Given the description of an element on the screen output the (x, y) to click on. 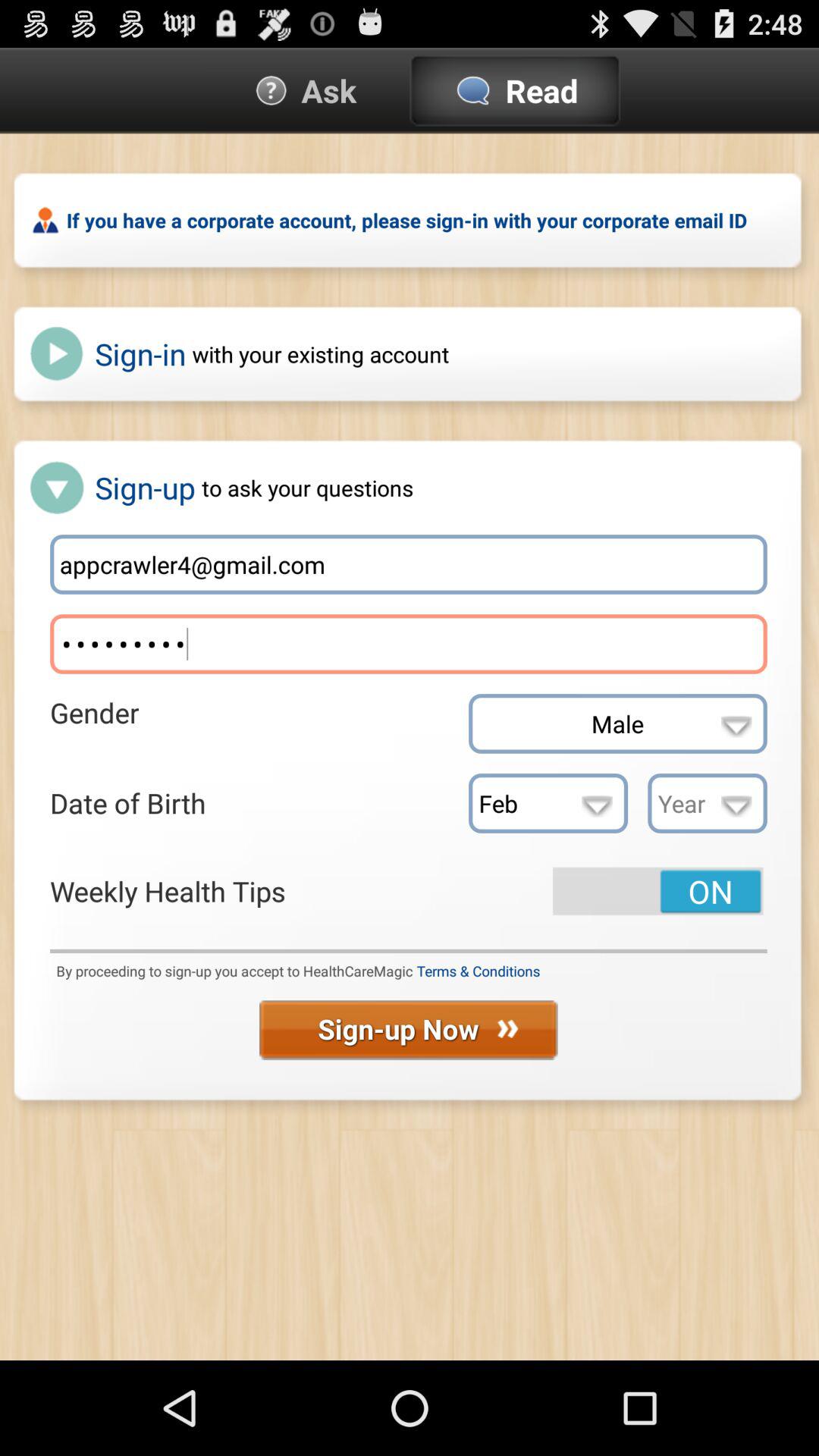
click on the male which is right to gender (617, 724)
